Given the description of an element on the screen output the (x, y) to click on. 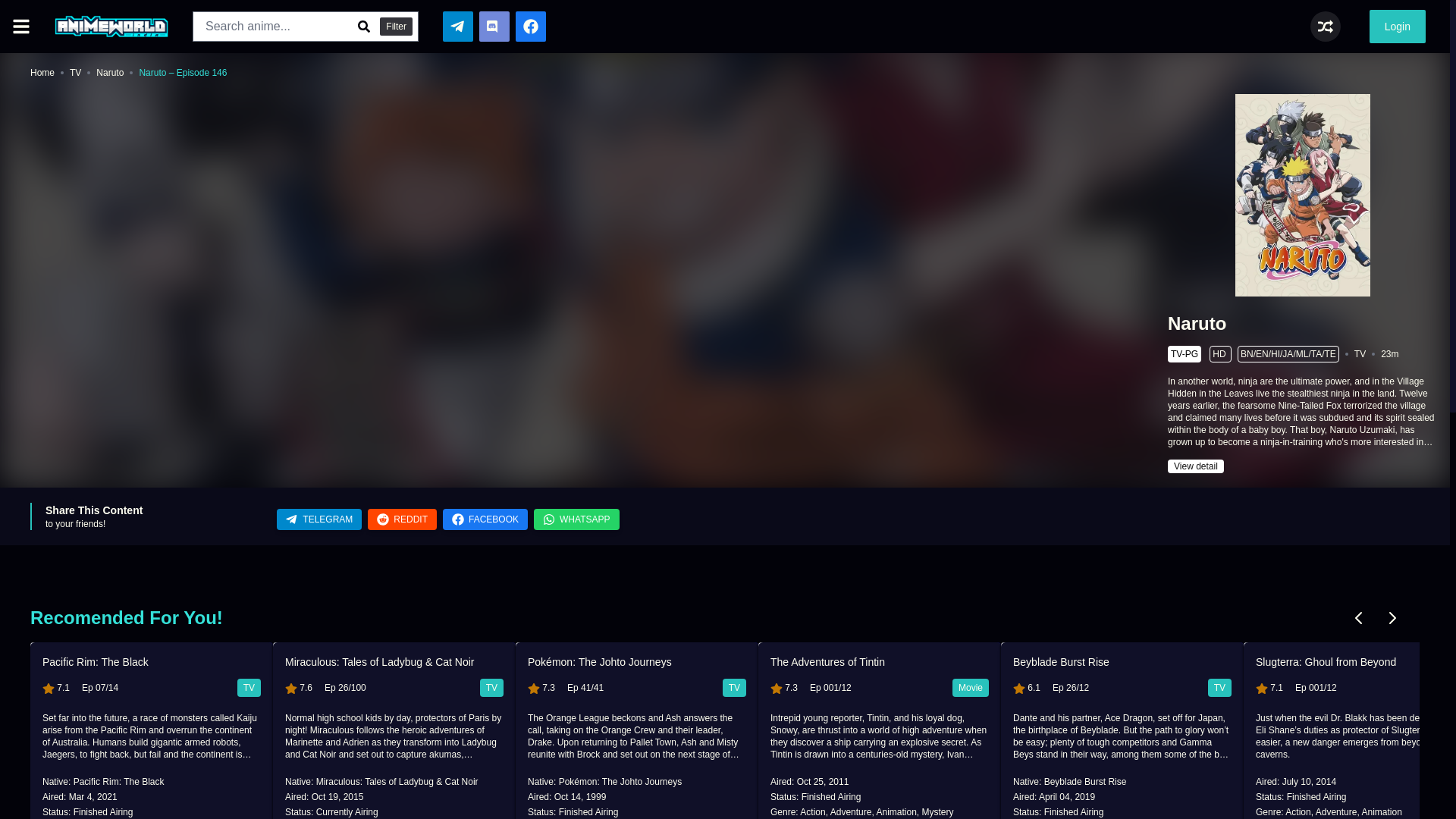
Filter (396, 26)
I'm feeling lucky! (1325, 26)
